Given the description of an element on the screen output the (x, y) to click on. 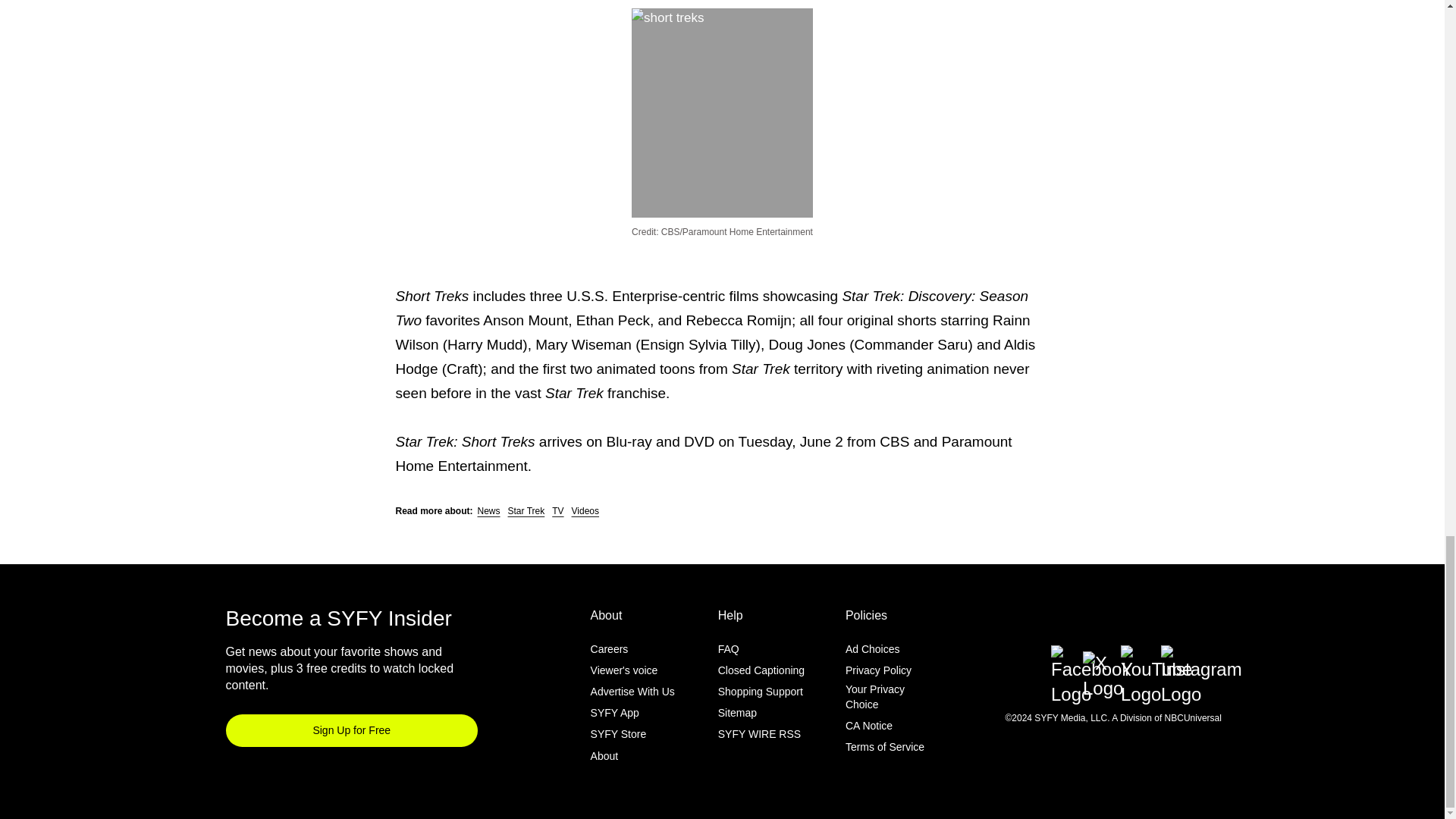
Advertise With Us (633, 691)
TV (557, 511)
Star Trek (526, 511)
News (488, 511)
Videos (585, 511)
